Given the description of an element on the screen output the (x, y) to click on. 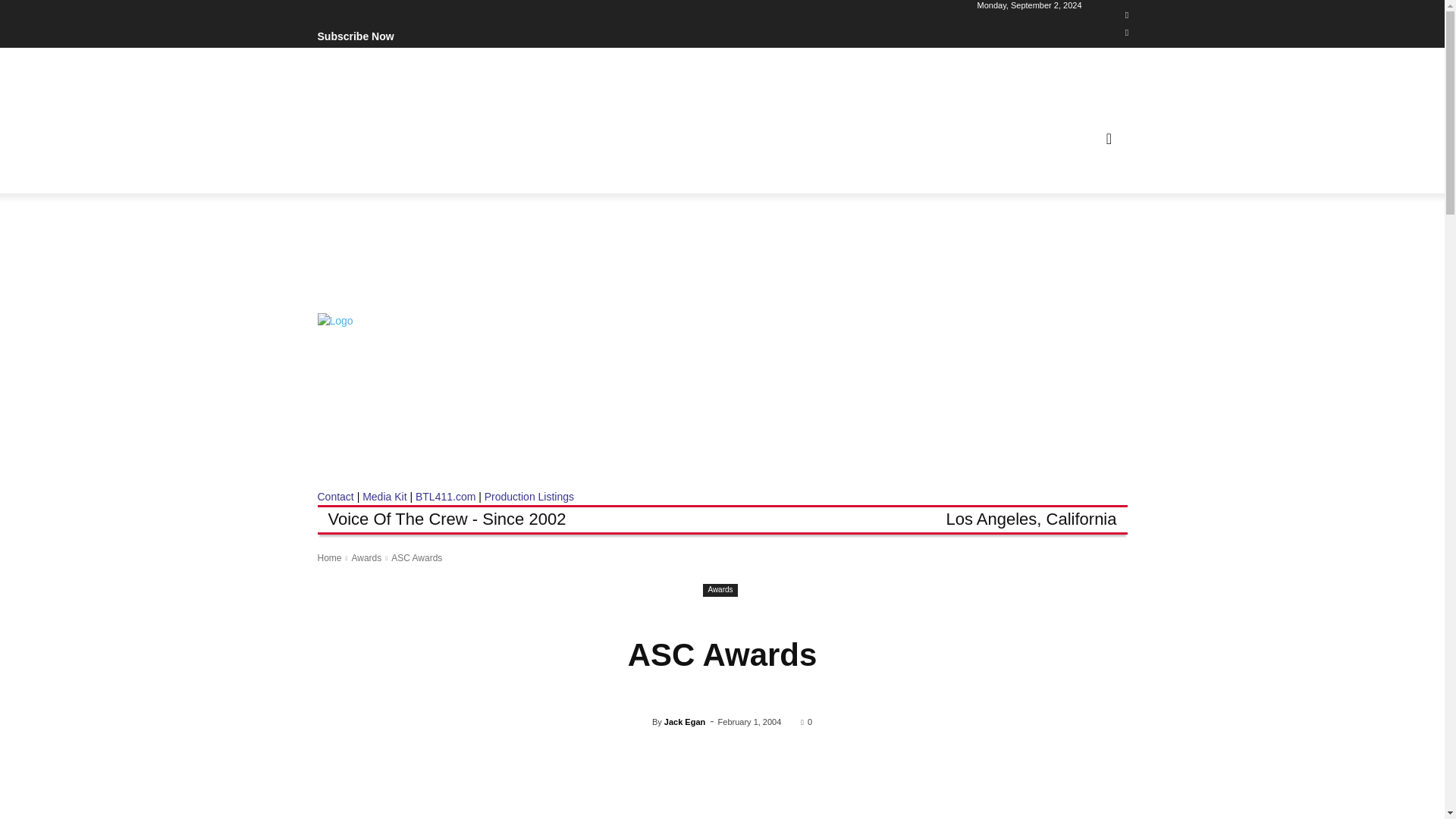
Facebook (1126, 15)
View all posts in Awards (365, 557)
Twitter (1126, 32)
Jack Egan (641, 721)
